Given the description of an element on the screen output the (x, y) to click on. 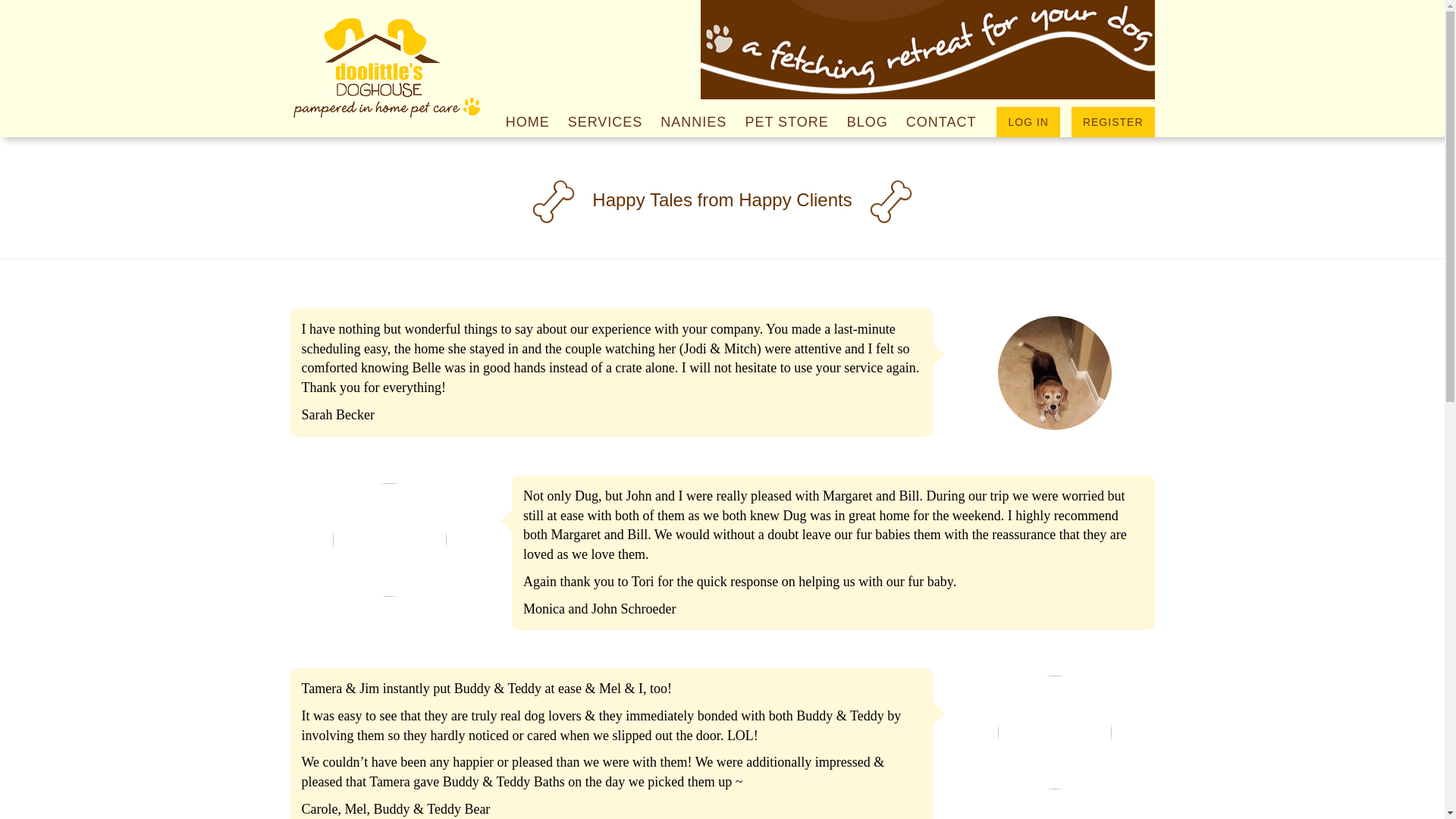
BLOG (867, 122)
NANNIES (692, 122)
HOME (527, 122)
SERVICES (605, 122)
CONTACT (940, 122)
PET STORE (786, 122)
REGISTER (1112, 122)
LOG IN (1027, 122)
